Given the description of an element on the screen output the (x, y) to click on. 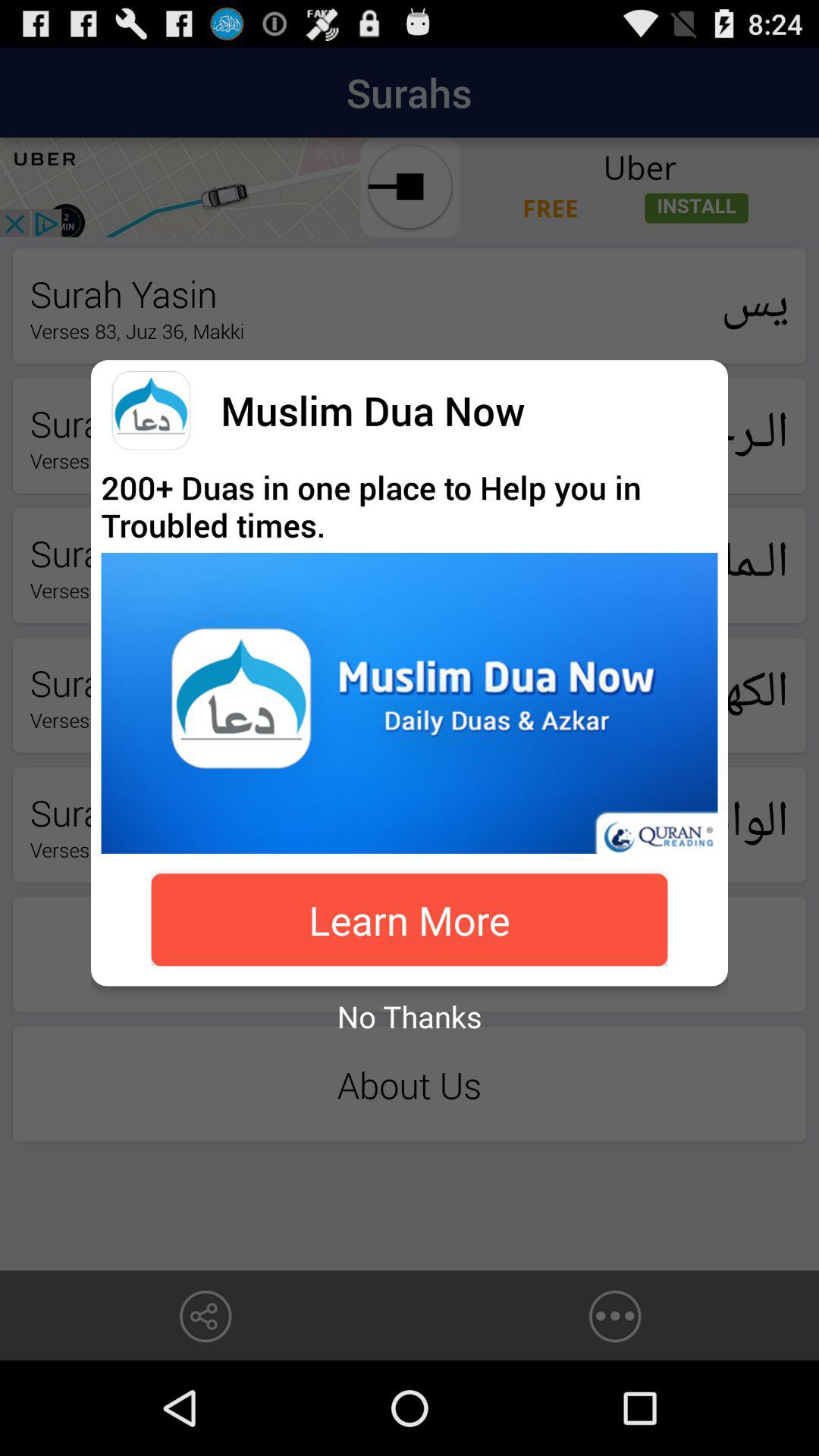
turn on learn more (409, 919)
